Given the description of an element on the screen output the (x, y) to click on. 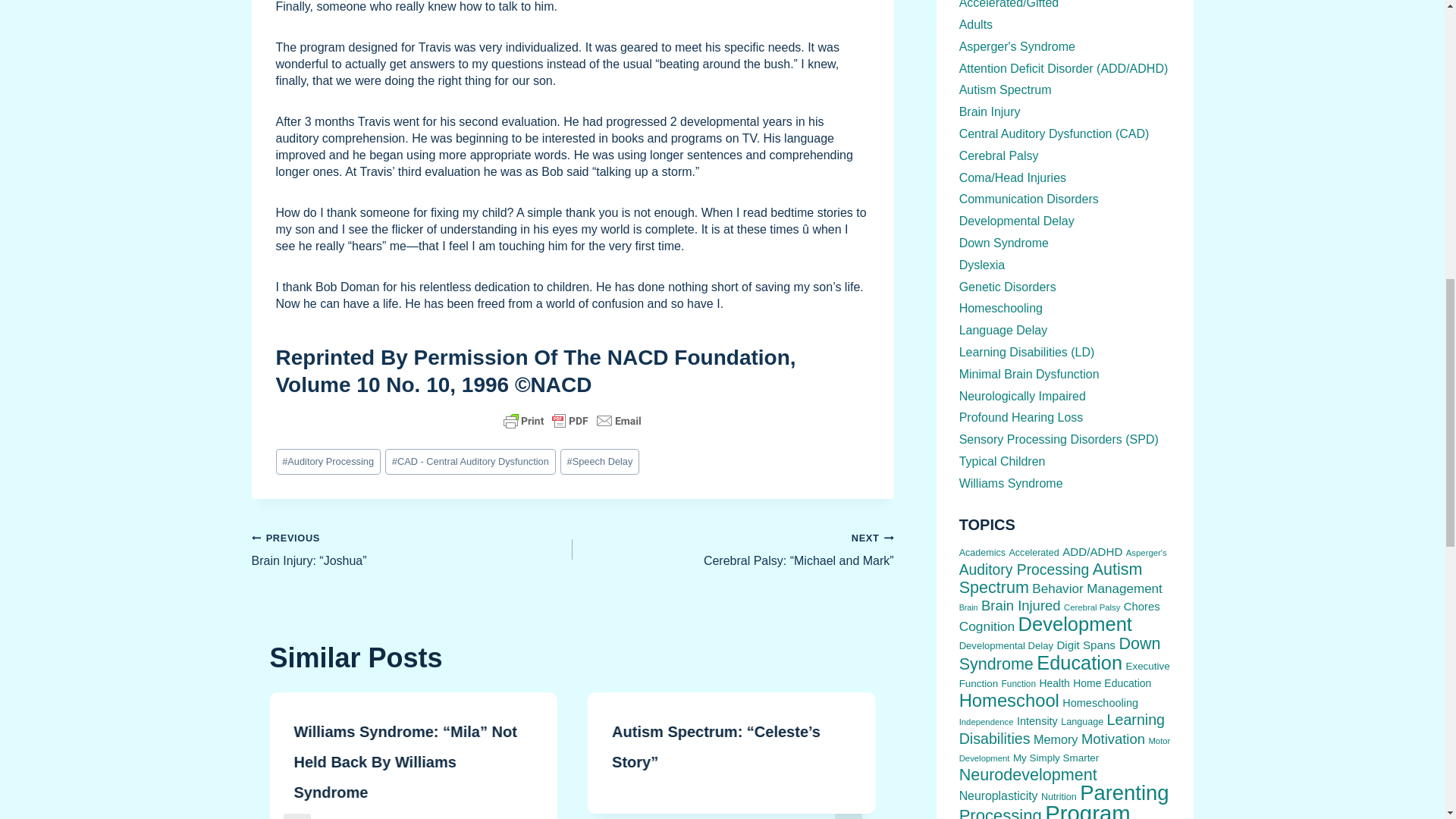
CAD - Central Auditory Dysfunction (469, 461)
Auditory Processing (328, 461)
Speech Delay (599, 461)
